Given the description of an element on the screen output the (x, y) to click on. 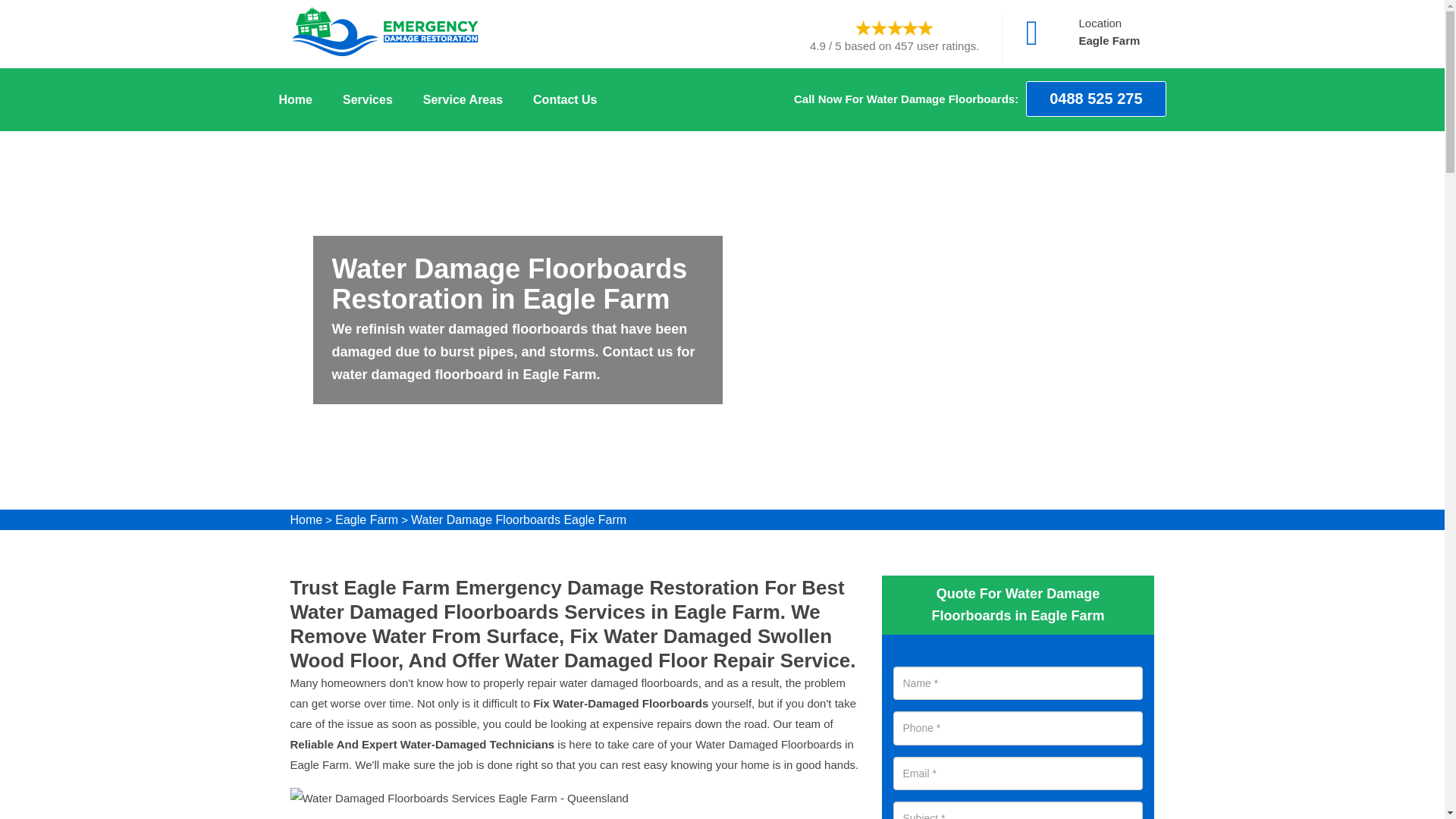
Eagle Farm (365, 519)
Contact Us (564, 99)
Service Areas (462, 99)
0488 525 275 (1096, 99)
Home (305, 519)
Water Damage Floorboards Eagle Farm (518, 519)
